Given the description of an element on the screen output the (x, y) to click on. 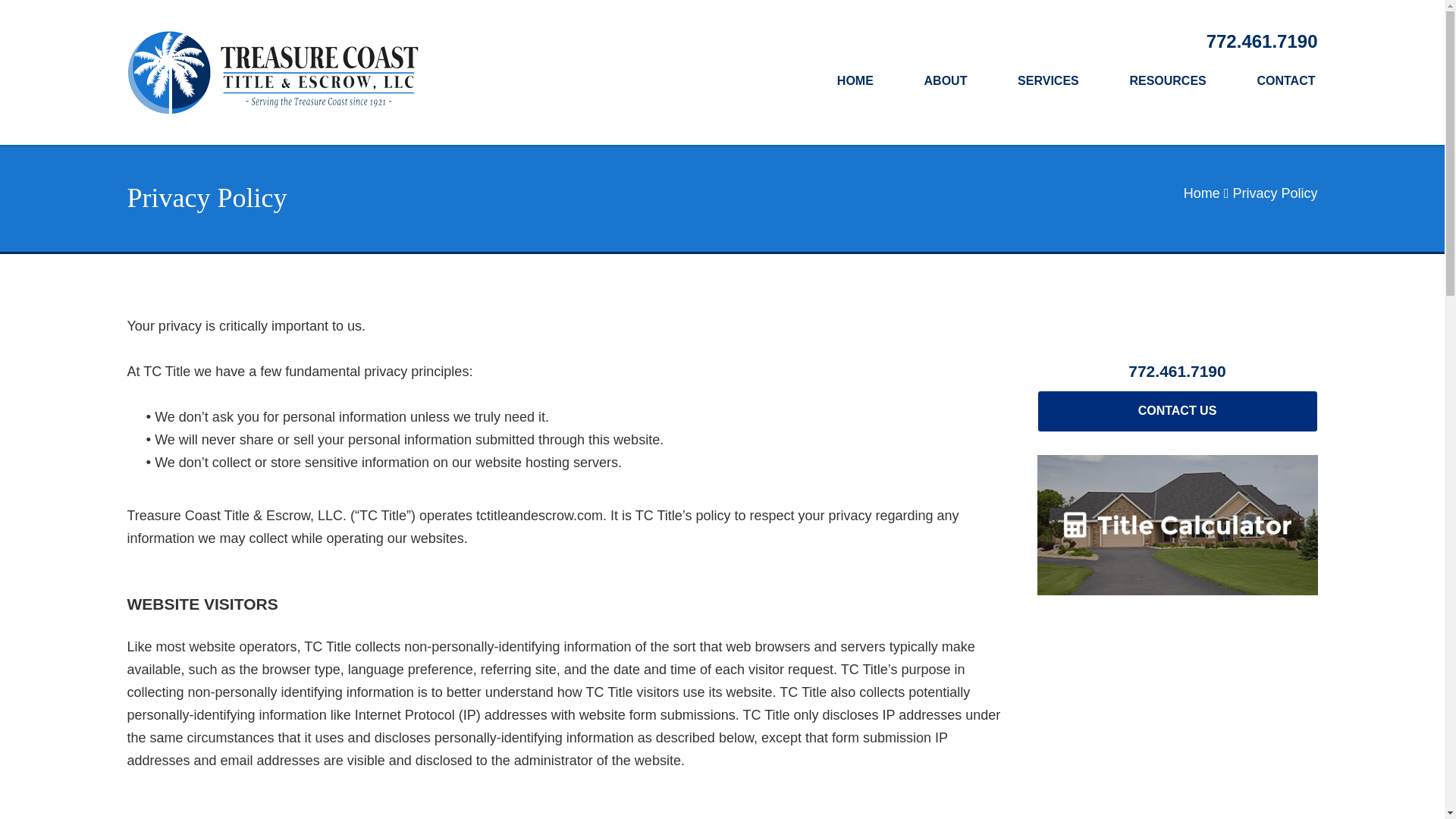
RESOURCES (1167, 81)
Home (1201, 192)
772.461.7190 (1176, 371)
SERVICES (1047, 81)
CONTACT US (1176, 411)
772.461.7190 (1262, 41)
CONTACT (1285, 81)
